Given the description of an element on the screen output the (x, y) to click on. 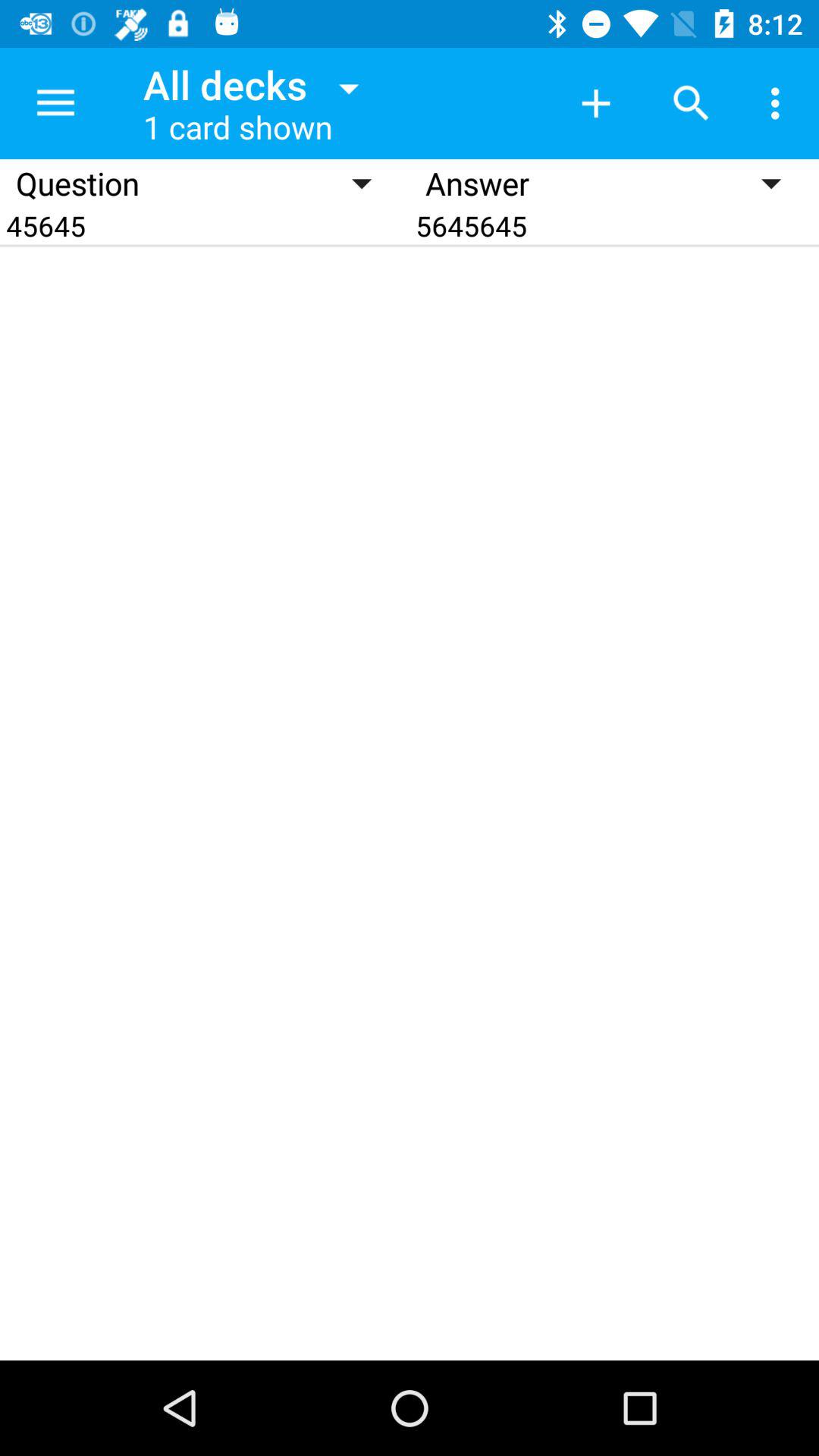
select icon next to all decks icon (595, 103)
